Given the description of an element on the screen output the (x, y) to click on. 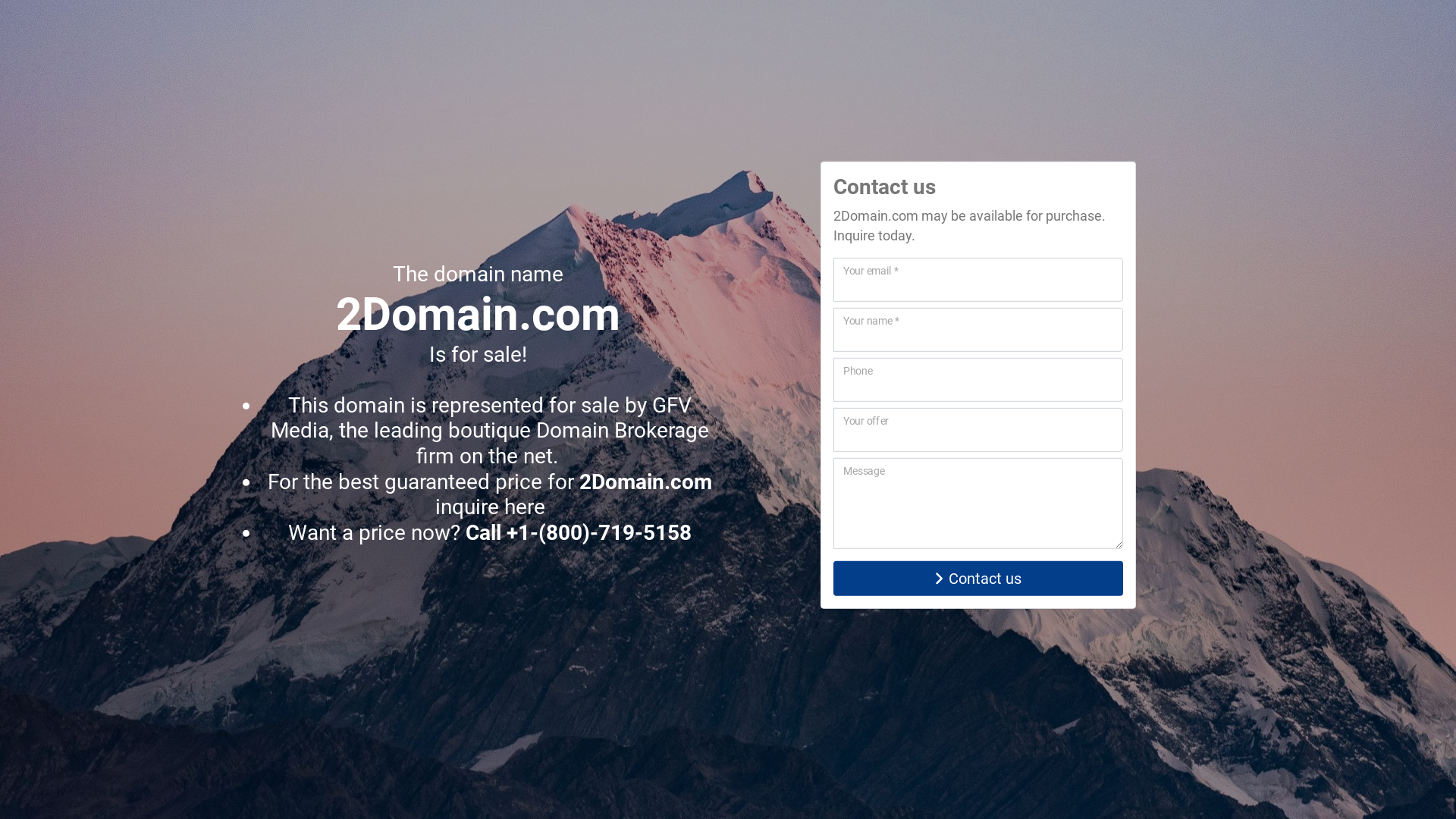
Contact us Element type: text (978, 578)
